Given the description of an element on the screen output the (x, y) to click on. 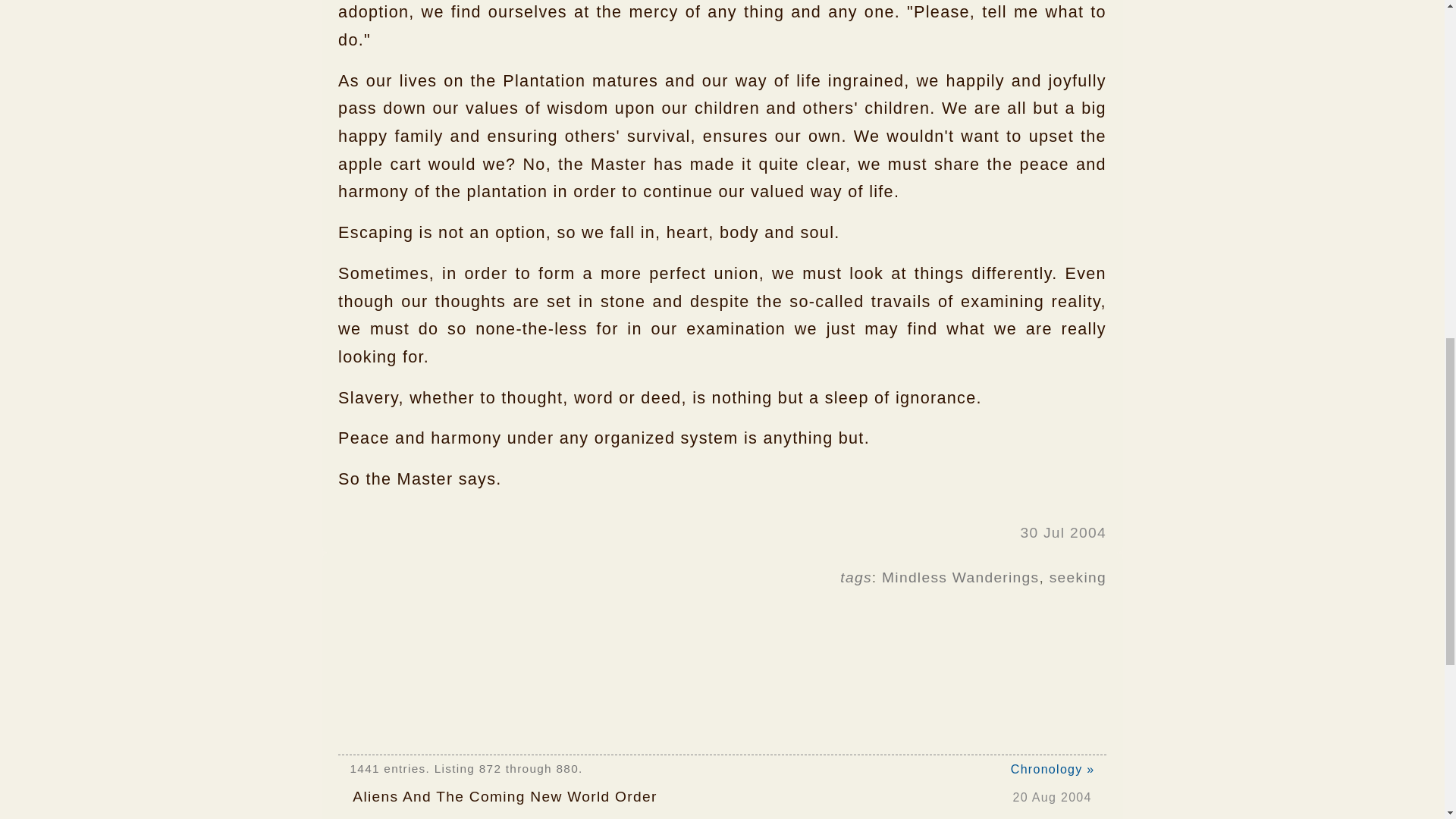
Mindless Wanderings (960, 577)
tags (855, 577)
seeking (1077, 577)
